Given the description of an element on the screen output the (x, y) to click on. 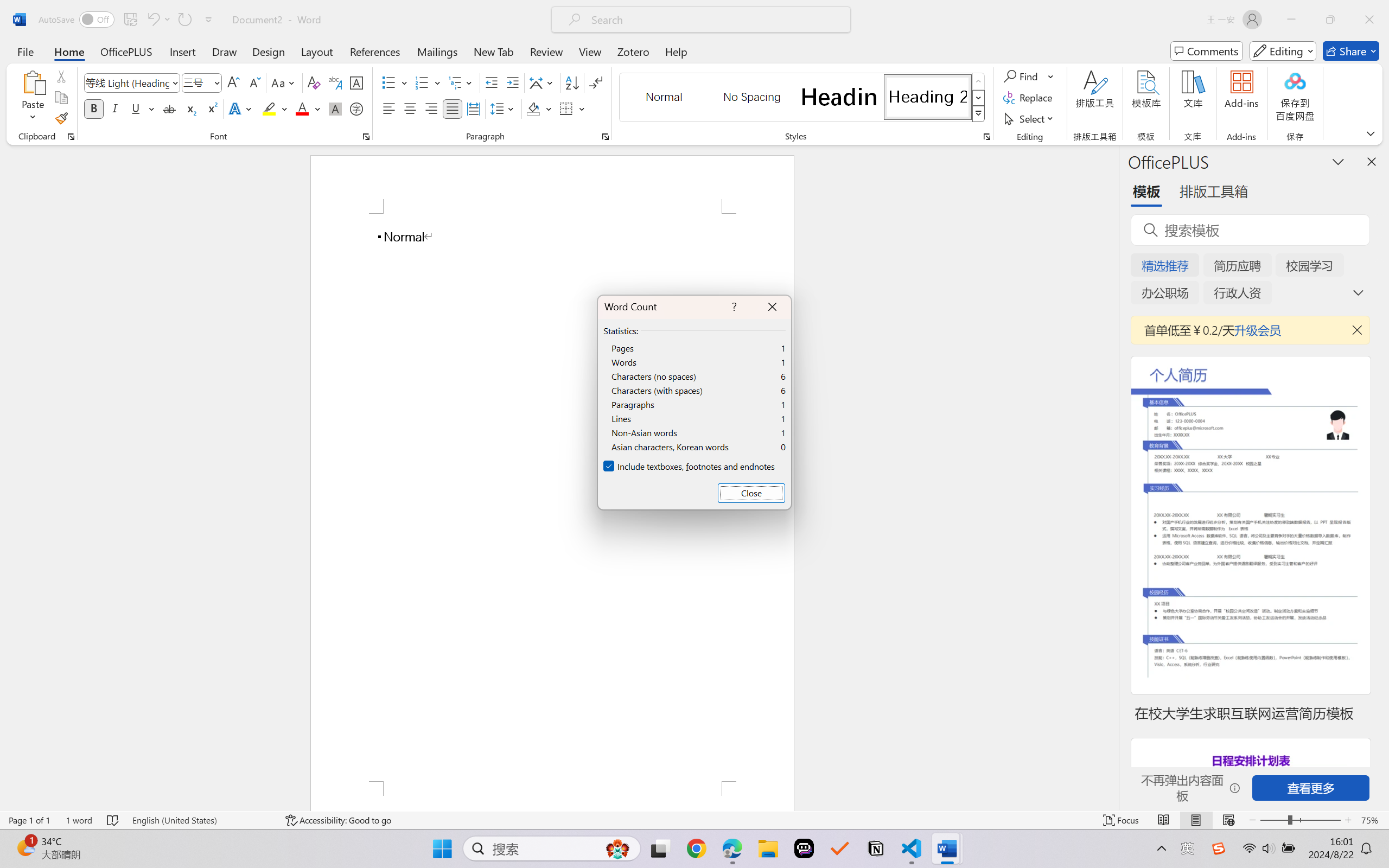
Sort... (571, 82)
Phonetic Guide... (334, 82)
Styles (978, 113)
Center (409, 108)
Comments (1206, 50)
Character Shading (334, 108)
Font (126, 82)
Class: MsoCommandBar (694, 819)
Text Effects and Typography (241, 108)
Find (1029, 75)
